Given the description of an element on the screen output the (x, y) to click on. 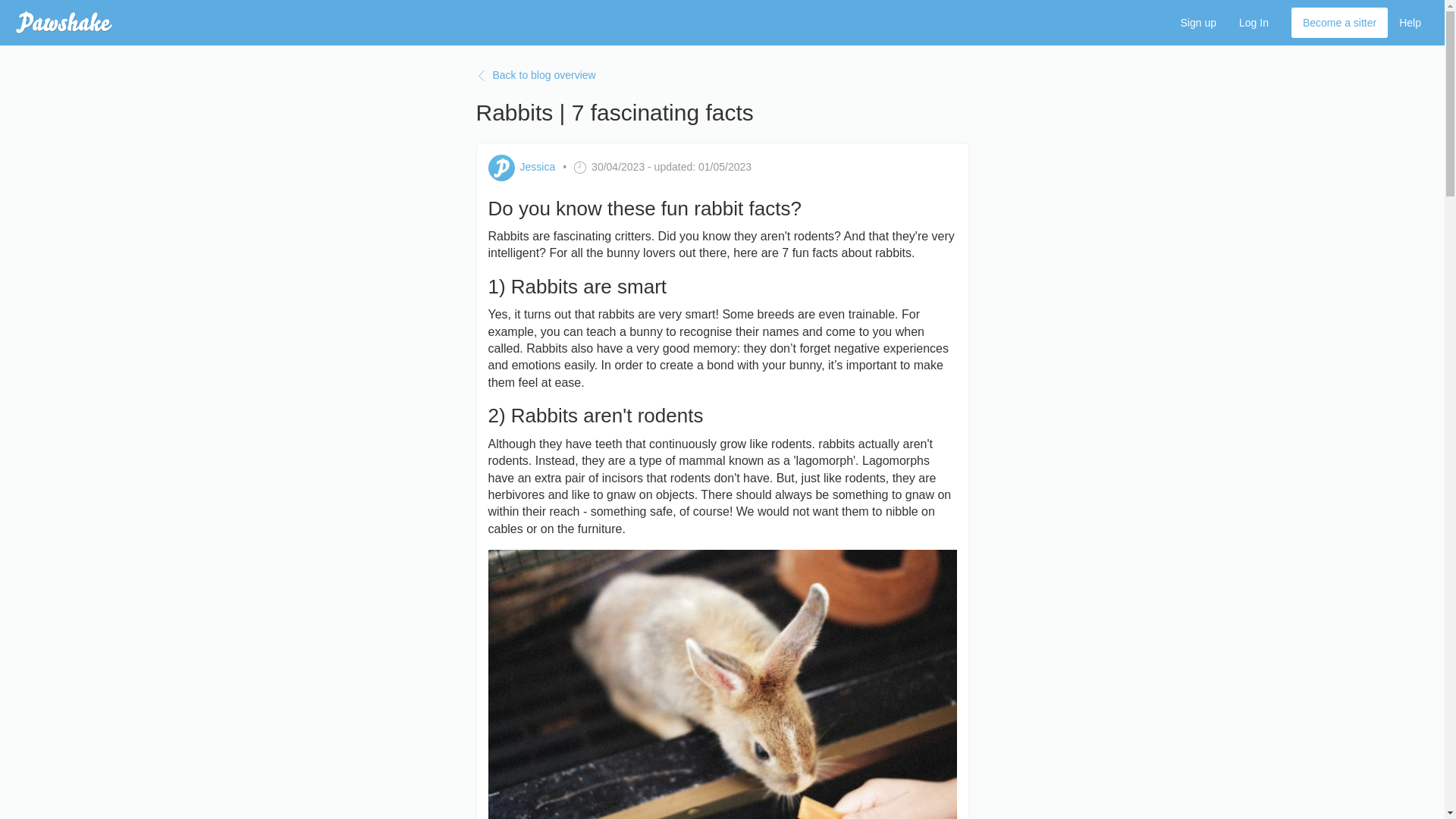
Become a sitter (1339, 22)
Back to blog overview (722, 75)
Home (64, 22)
Jessica (537, 167)
Help (1409, 22)
Log In (1253, 22)
Sign up (1198, 22)
